Given the description of an element on the screen output the (x, y) to click on. 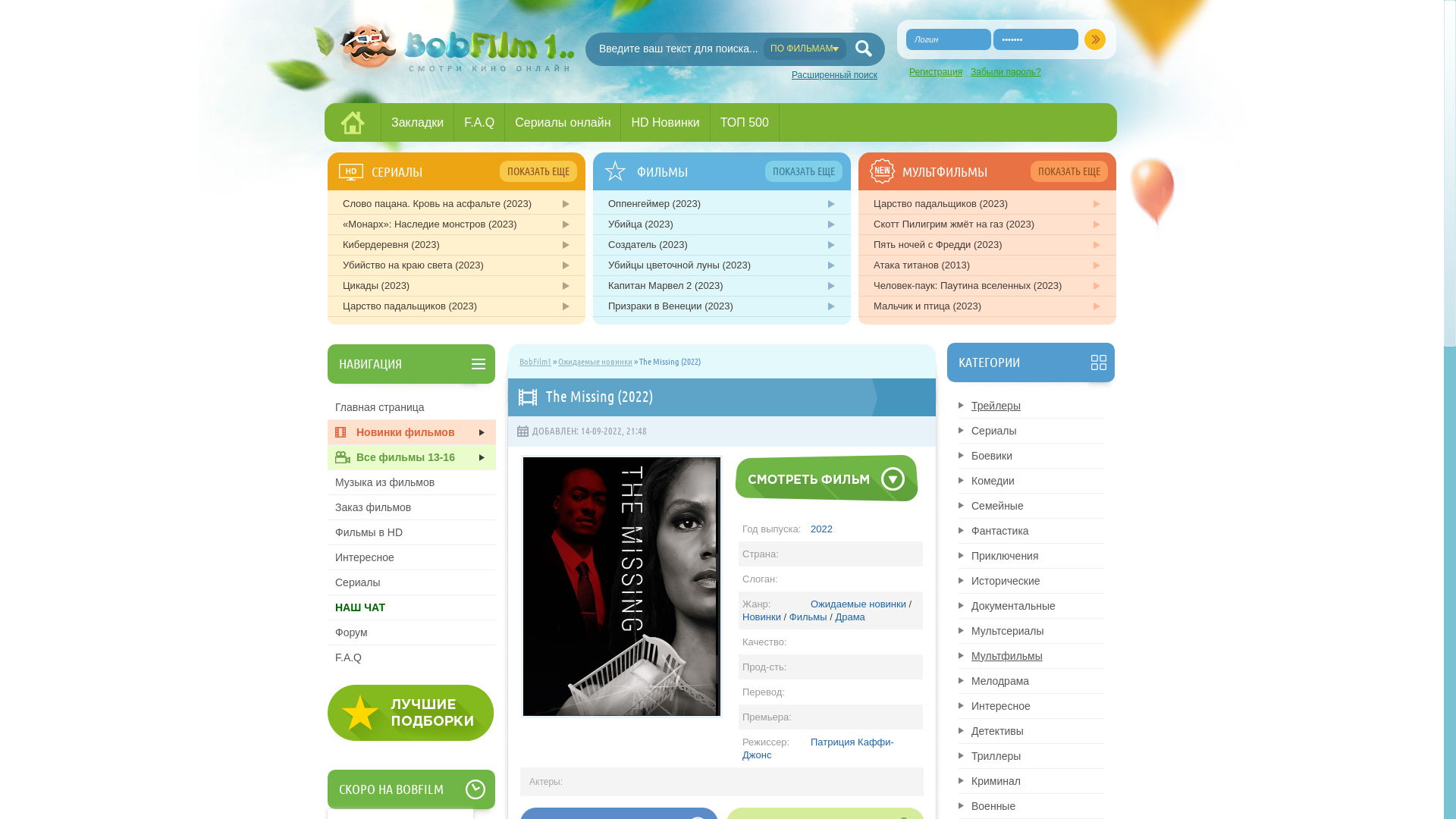
2022 Element type: text (821, 528)
F.A.Q Element type: text (411, 657)
BobFilm1 Element type: text (535, 361)
F.A.Q Element type: text (479, 122)
